Given the description of an element on the screen output the (x, y) to click on. 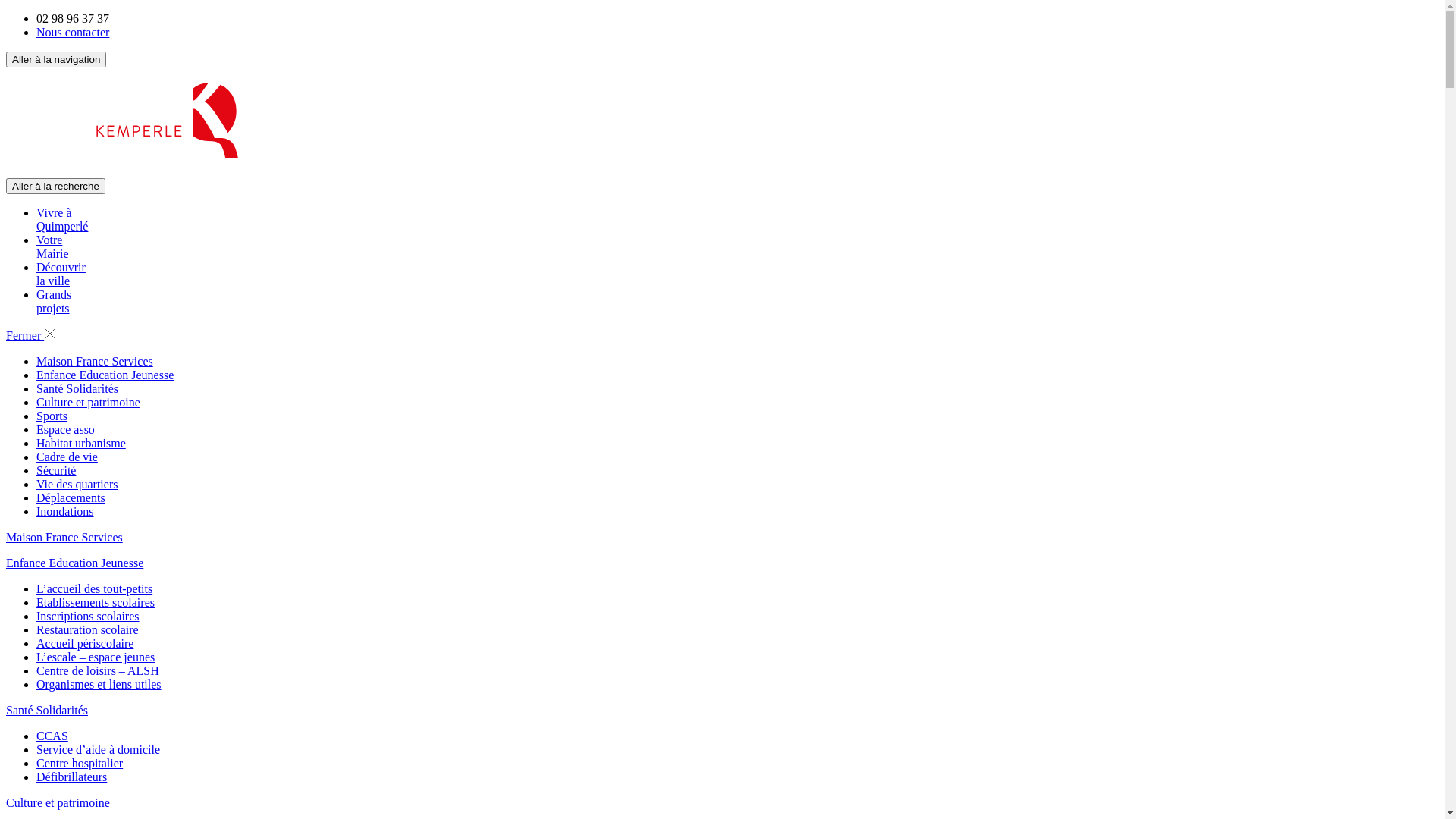
Organismes et liens utiles Element type: text (98, 683)
Inscriptions scolaires Element type: text (87, 615)
Enfance Education Jeunesse Element type: text (104, 374)
Fermer Element type: text (31, 335)
Habitat urbanisme Element type: text (80, 442)
Votre
Mairie Element type: text (52, 246)
Nous contacter Element type: text (72, 31)
Espace asso Element type: text (65, 429)
Sports Element type: text (51, 415)
CCAS Element type: text (52, 735)
Culture et patrimoine Element type: text (88, 401)
Etablissements scolaires Element type: text (95, 602)
Maison France Services Element type: text (94, 360)
Centre hospitalier Element type: text (79, 762)
Grands
projets Element type: text (53, 301)
Culture et patrimoine Element type: text (57, 802)
Enfance Education Jeunesse Element type: text (74, 562)
Maison France Services Element type: text (64, 536)
Cadre de vie Element type: text (66, 456)
Vie des quartiers Element type: text (76, 483)
Inondations Element type: text (65, 511)
Restauration scolaire Element type: text (87, 629)
